Given the description of an element on the screen output the (x, y) to click on. 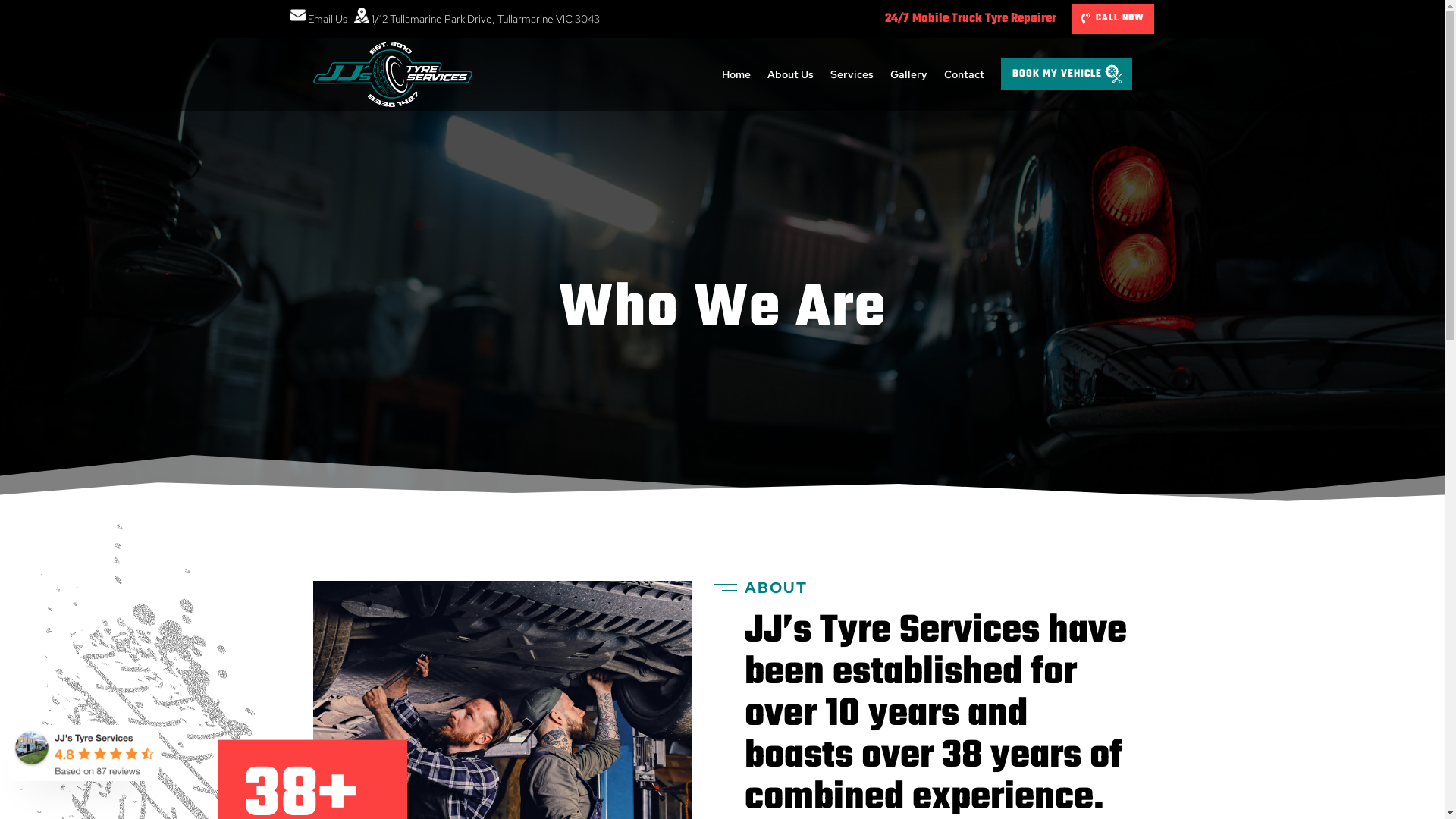
About Us Element type: text (790, 73)
 Email Us Element type: text (317, 18)
Home Element type: text (735, 73)
Contact Element type: text (963, 73)
CALL NOW Element type: text (1112, 18)
Services Element type: text (850, 73)
jjs-tyre-services-google-reviews Element type: hover (83, 752)
 1/12 Tullamarine Park Drive, Tullarmarine VIC 3043 Element type: text (476, 18)
Gallery Element type: text (908, 73)
BOOK MY VEHICLE Element type: text (1066, 74)
